Given the description of an element on the screen output the (x, y) to click on. 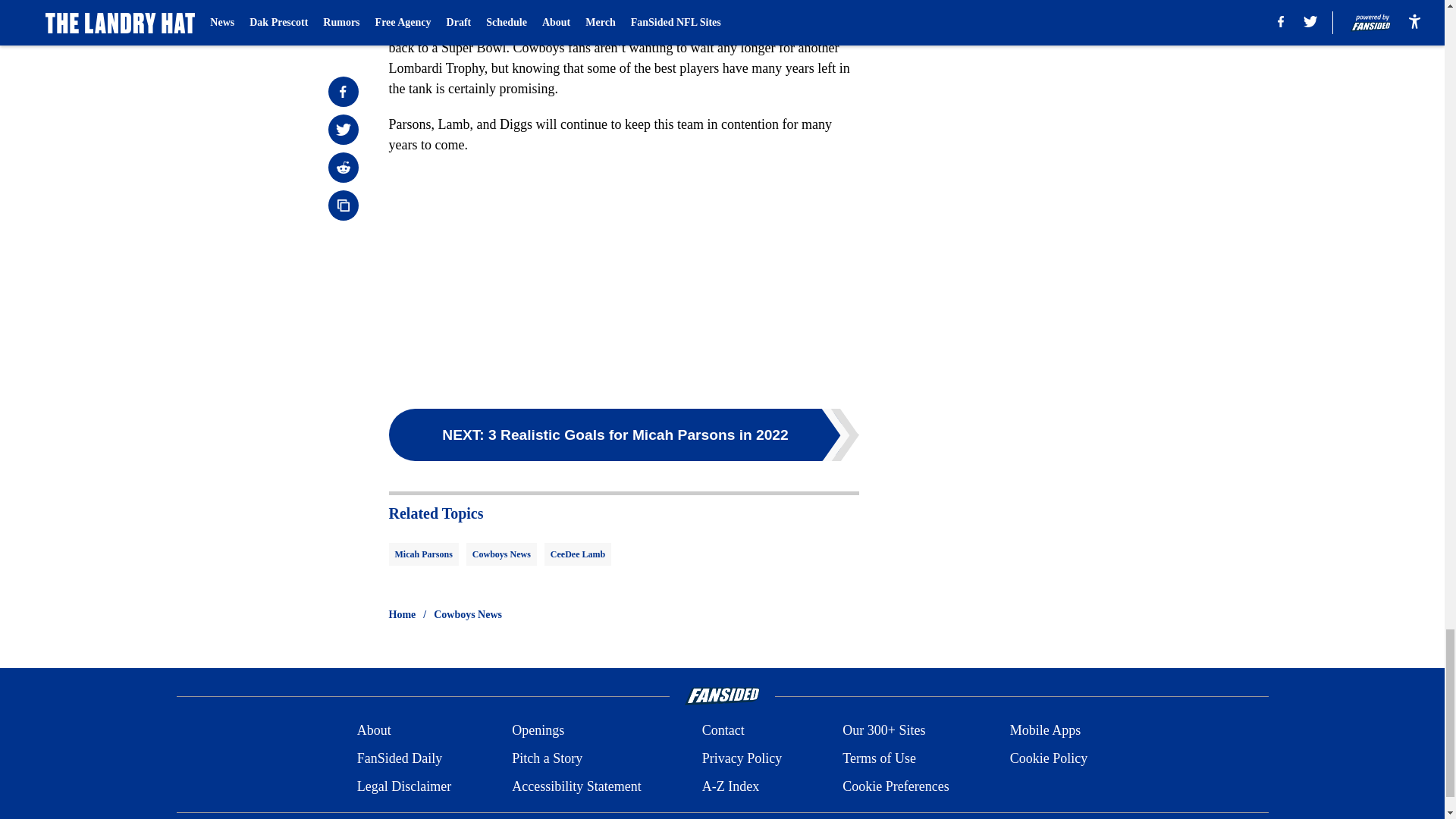
Openings (538, 730)
Home (401, 614)
CeeDee Lamb (577, 553)
Micah Parsons (423, 553)
Contact (722, 730)
About (373, 730)
Cowboys News (501, 553)
Cowboys News (467, 614)
NEXT: 3 Realistic Goals for Micah Parsons in 2022 (623, 434)
